Given the description of an element on the screen output the (x, y) to click on. 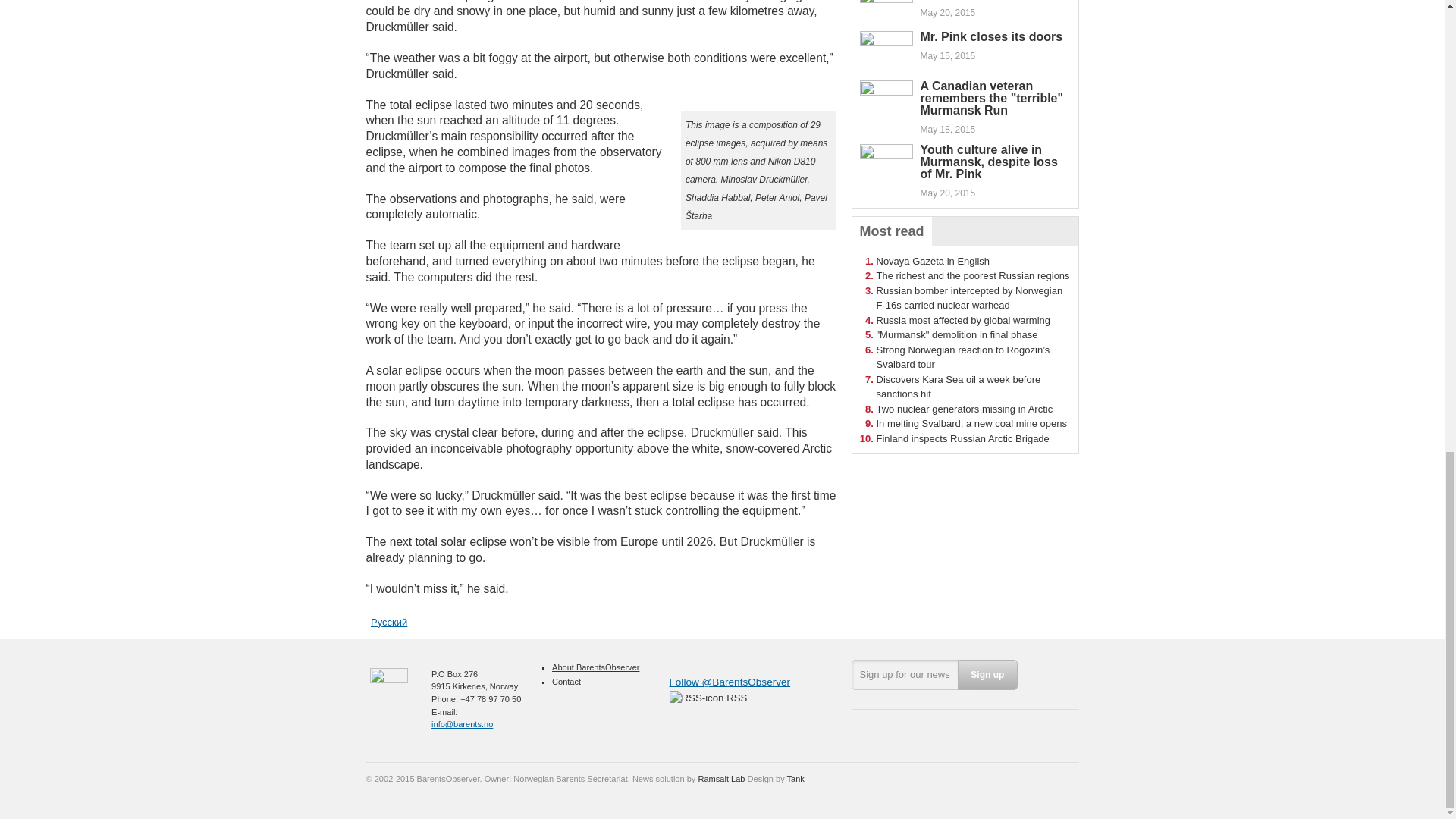
Subscribe to Latest from BarentsObserver (707, 697)
Sign up (986, 675)
Mr. Pink closes its doors (991, 36)
A Canadian veteran remembers the "terrible" Murmansk Run (992, 98)
